Given the description of an element on the screen output the (x, y) to click on. 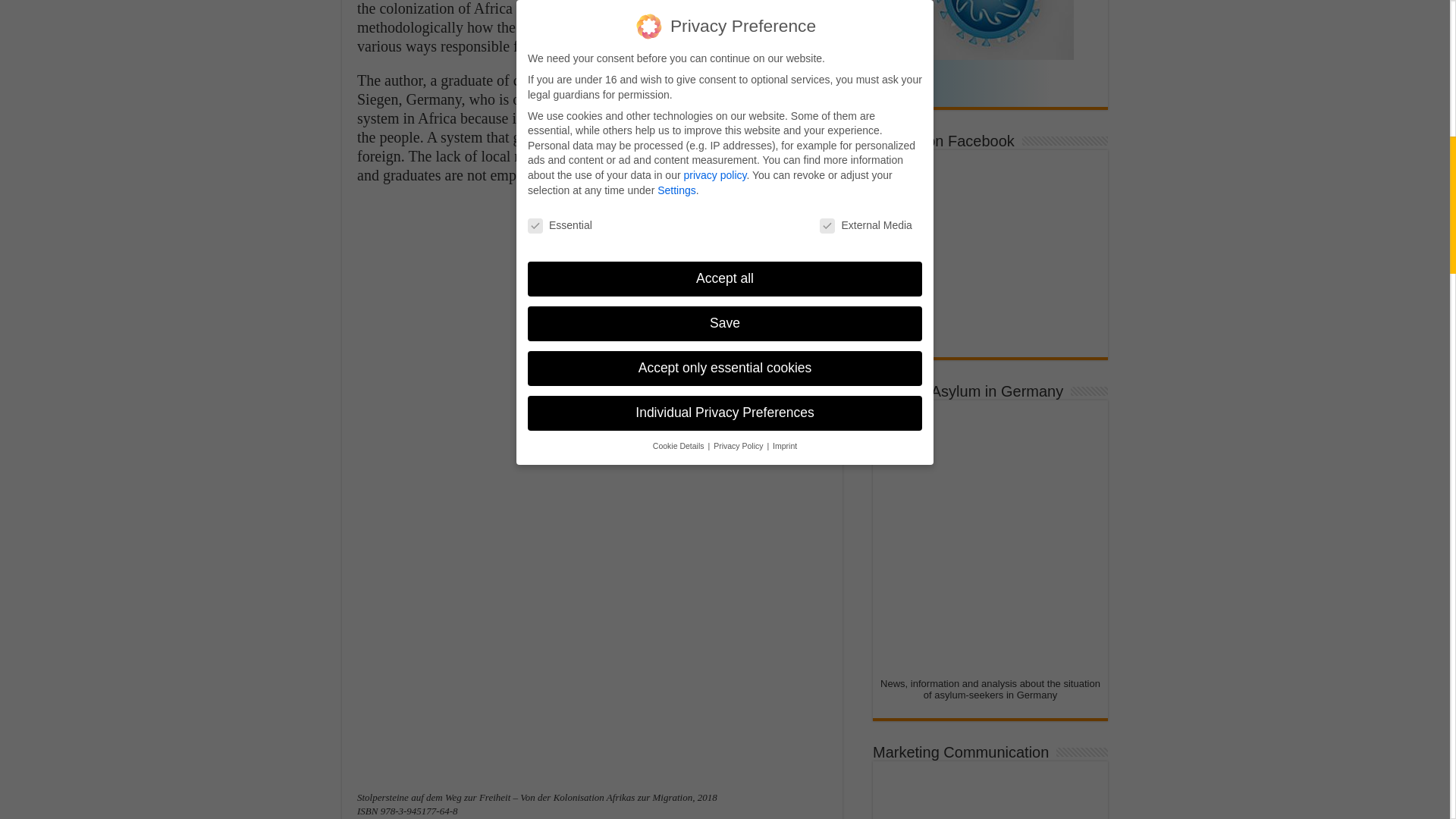
Scroll To Top (1427, 60)
